Given the description of an element on the screen output the (x, y) to click on. 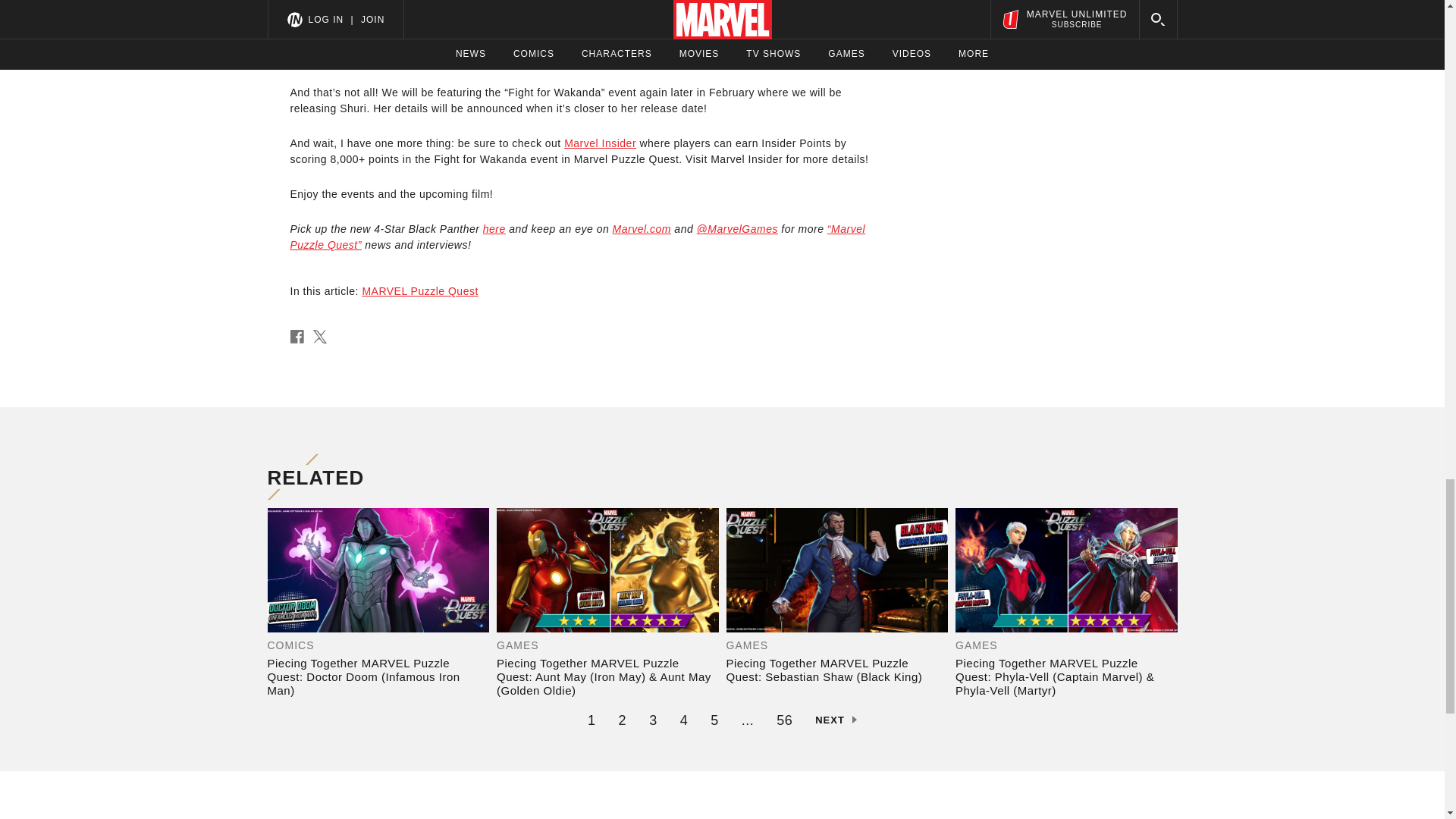
here (494, 228)
Marvel Insider (600, 143)
MARVEL Puzzle Quest (419, 291)
Marvel.com (641, 228)
